Given the description of an element on the screen output the (x, y) to click on. 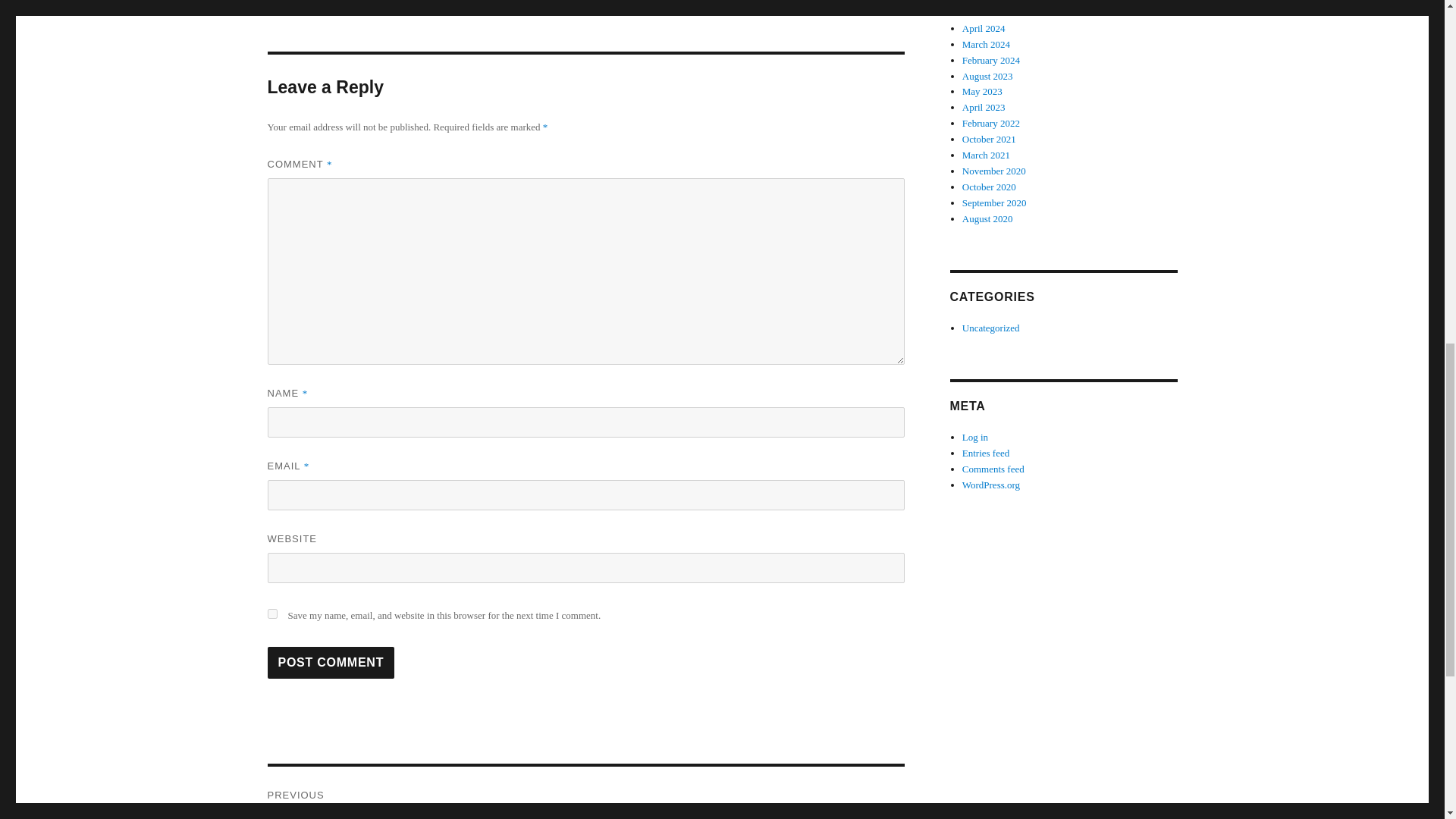
March 2024 (986, 43)
Log in (975, 437)
July 2024 (981, 1)
August 2020 (987, 218)
Entries feed (985, 452)
August 2023 (987, 75)
October 2020 (989, 186)
October 2021 (989, 138)
February 2022 (991, 122)
